Given the description of an element on the screen output the (x, y) to click on. 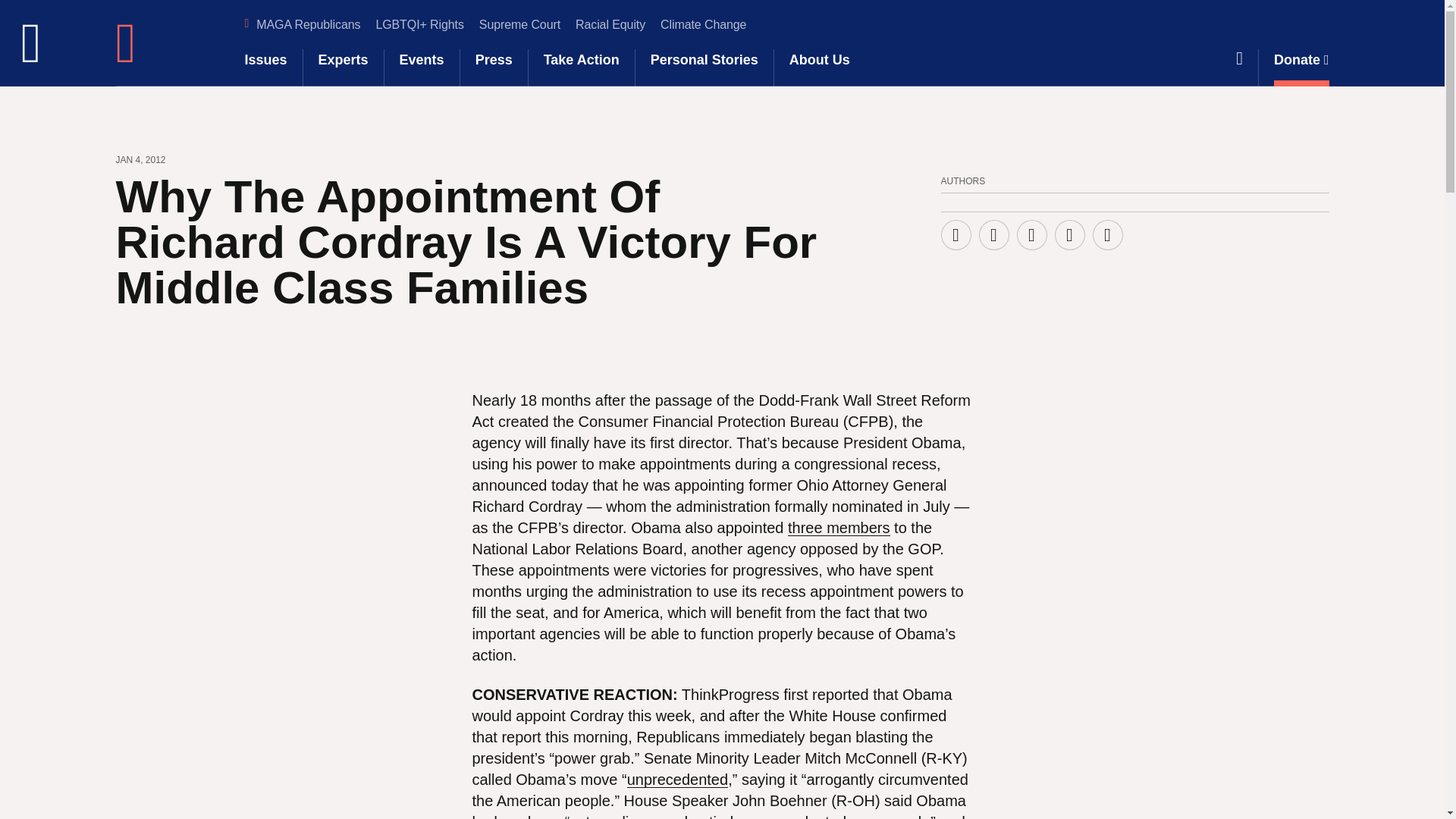
About Us (819, 67)
Racial Equity (610, 25)
Take Action (581, 67)
Press (494, 67)
Personal Stories (704, 67)
Supreme Court (519, 25)
Donate (1301, 67)
Issues (265, 67)
Events (421, 67)
MAGA Republicans (307, 25)
Climate Change (703, 25)
Experts (343, 67)
